Given the description of an element on the screen output the (x, y) to click on. 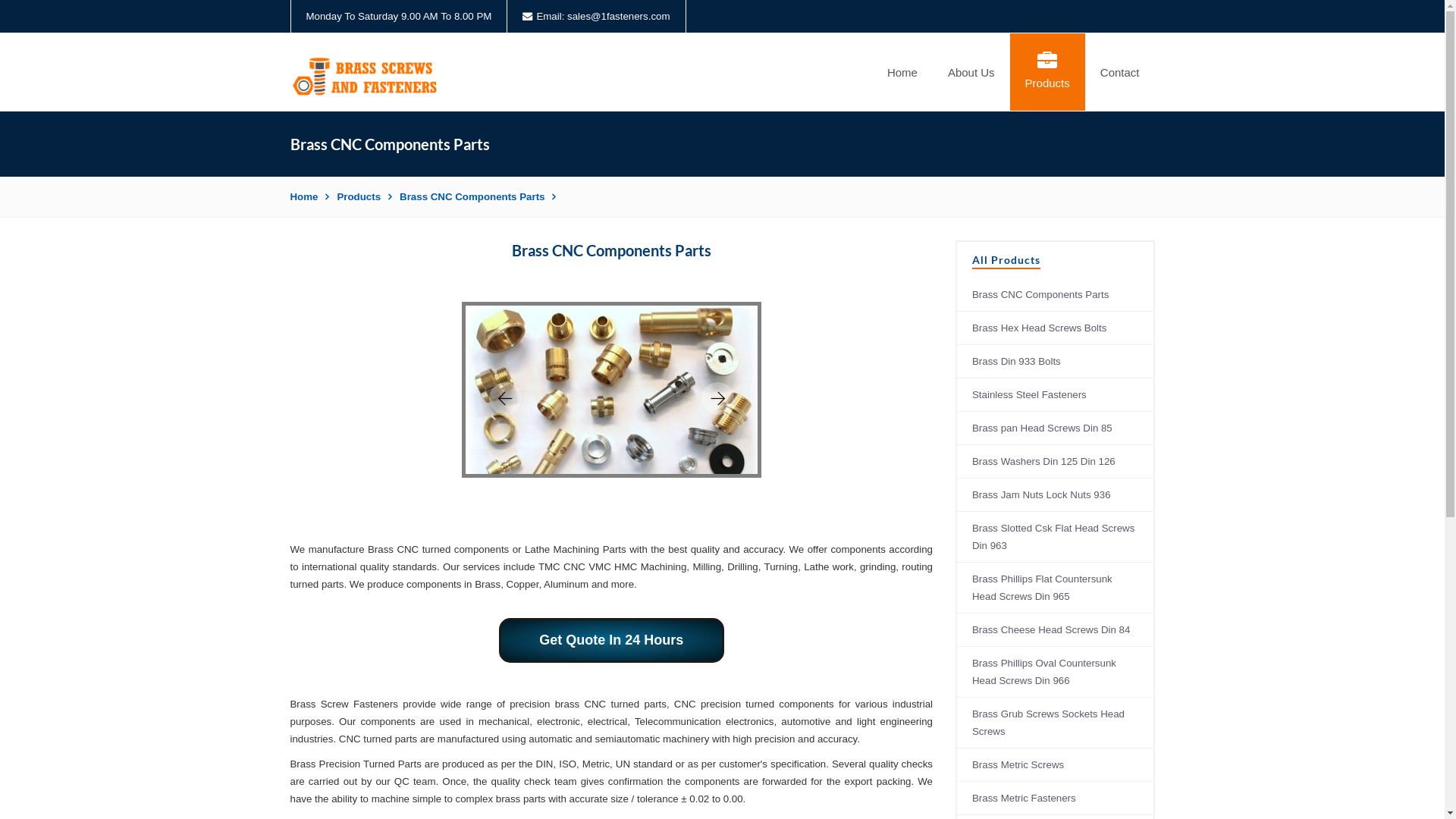
About Us Element type: text (971, 71)
Brass Metric Fasteners Element type: text (1055, 798)
Brass CNC Components Parts Element type: text (477, 196)
Brass Washers Din 125 Din 126 Element type: text (1055, 461)
Brass Phillips Oval Countersunk Head Screws Din 966 Element type: text (1055, 671)
Products Element type: text (1047, 71)
Brass CNC Components Parts Element type: text (1055, 294)
Brass Din 933 Bolts Element type: text (1055, 361)
Brass pan Head Screws Din 85 Element type: text (1055, 428)
Home Element type: text (902, 71)
Brass Jam Nuts Lock Nuts 936 Element type: text (1055, 494)
sales@1fasteners.com Element type: text (618, 15)
Stainless Steel Fasteners Element type: text (1055, 394)
Home Element type: text (309, 196)
Brass Grub Screws Sockets Head Screws Element type: text (1055, 722)
Contact Element type: text (1119, 71)
Brass Cheese Head Screws Din 84 Element type: text (1055, 629)
Brass Slotted Csk Flat Head Screws Din 963 Element type: text (1055, 536)
Brass Phillips Flat Countersunk Head Screws Din 965 Element type: text (1055, 587)
Brass Hex Head Screws Bolts Element type: text (1055, 328)
Brass Metric Screws Element type: text (1055, 764)
Get Quote In 24 Hours Element type: text (611, 640)
Products Element type: text (364, 196)
